Given the description of an element on the screen output the (x, y) to click on. 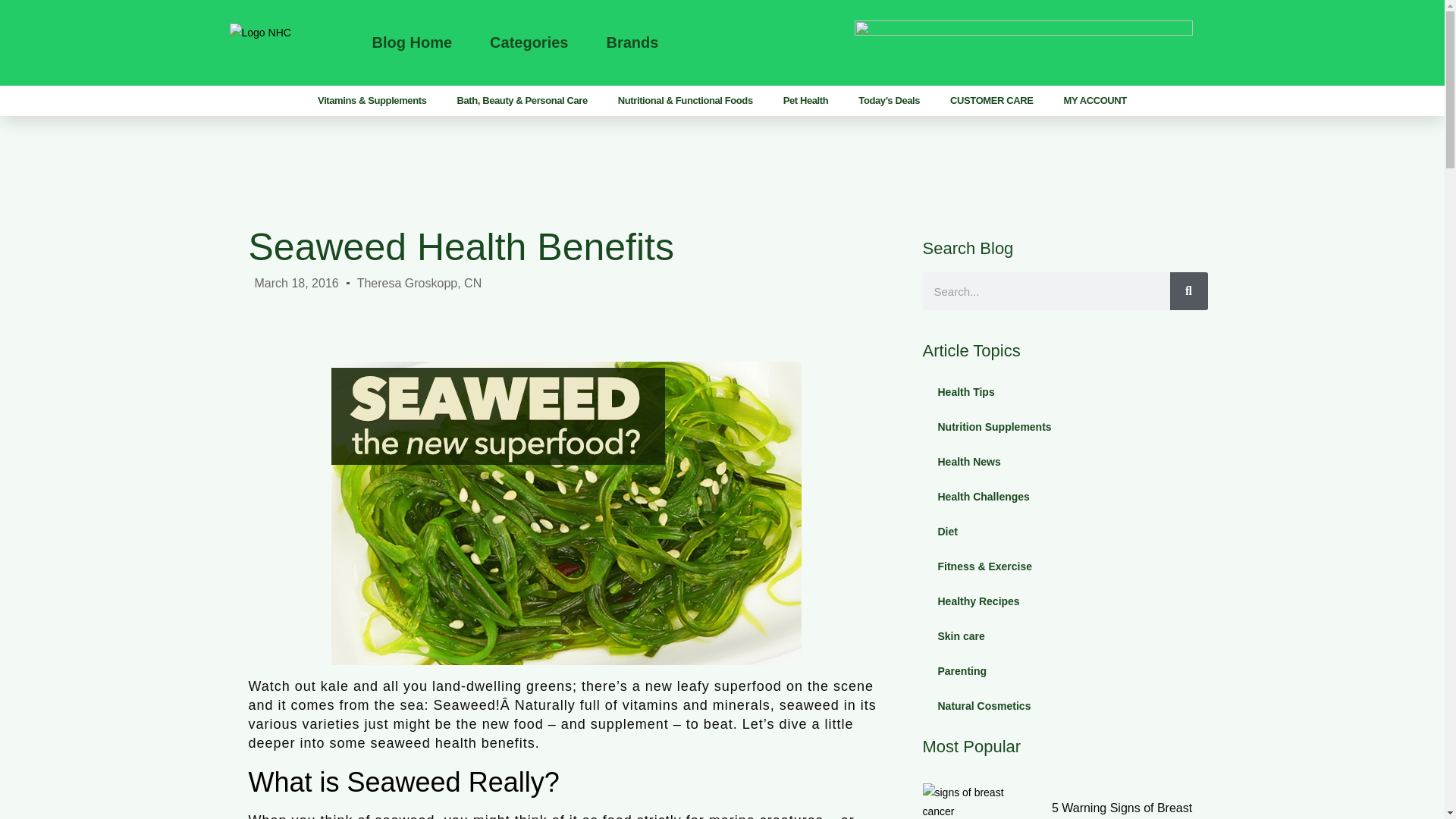
Categories (528, 42)
Blog Home (411, 42)
Pet Health (806, 100)
MY ACCOUNT (1094, 100)
CUSTOMER CARE (991, 100)
March 18, 2016 (296, 282)
Theresa Groskopp, CN (418, 282)
